Given the description of an element on the screen output the (x, y) to click on. 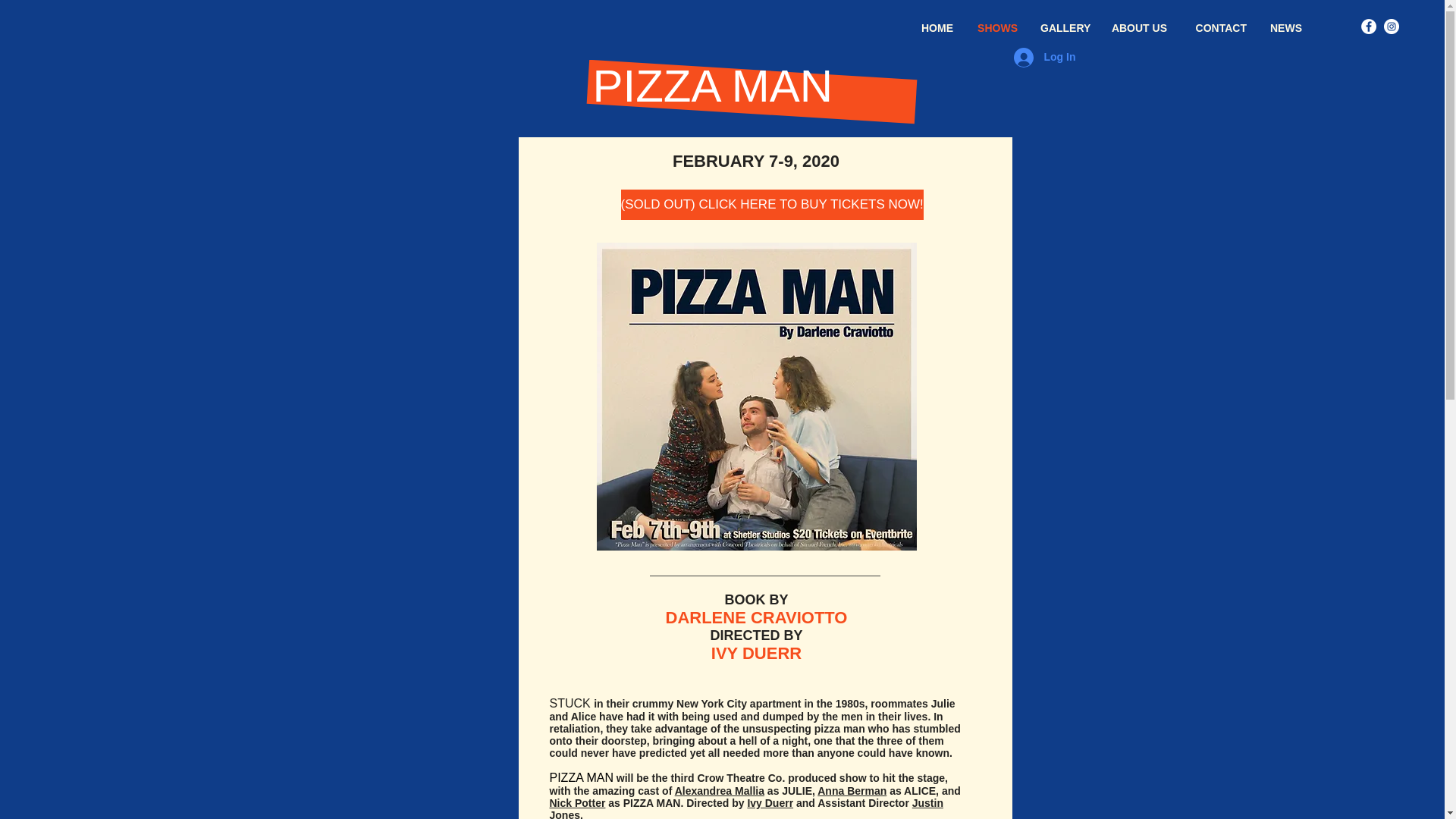
Log In (1044, 57)
CONTACT (1217, 27)
HOME (935, 27)
Alexandrea Mallia (719, 790)
NEWS (1285, 27)
GALLERY (1064, 27)
SHOWS (996, 27)
